Given the description of an element on the screen output the (x, y) to click on. 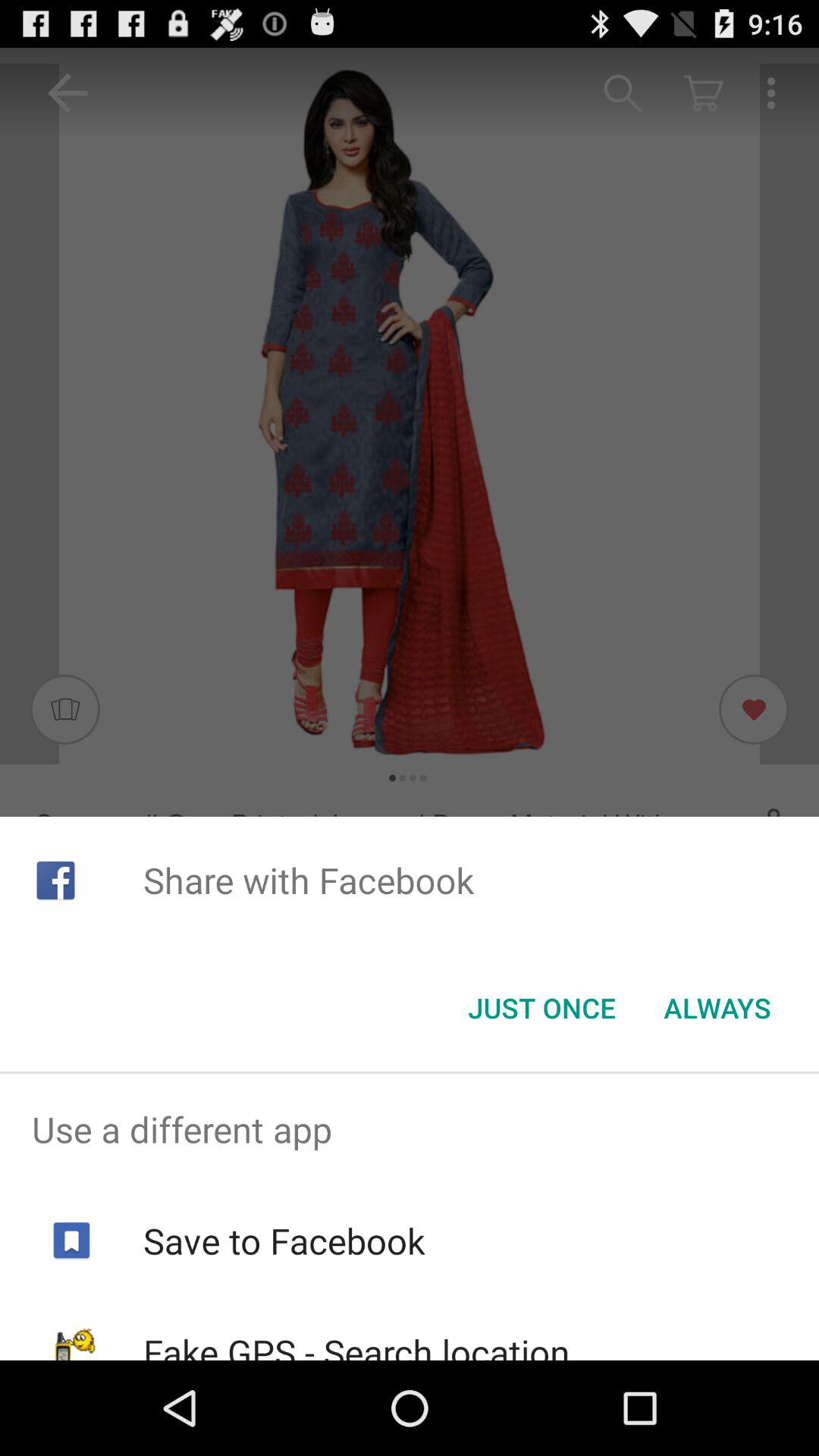
press the app below the share with facebook icon (717, 1007)
